Given the description of an element on the screen output the (x, y) to click on. 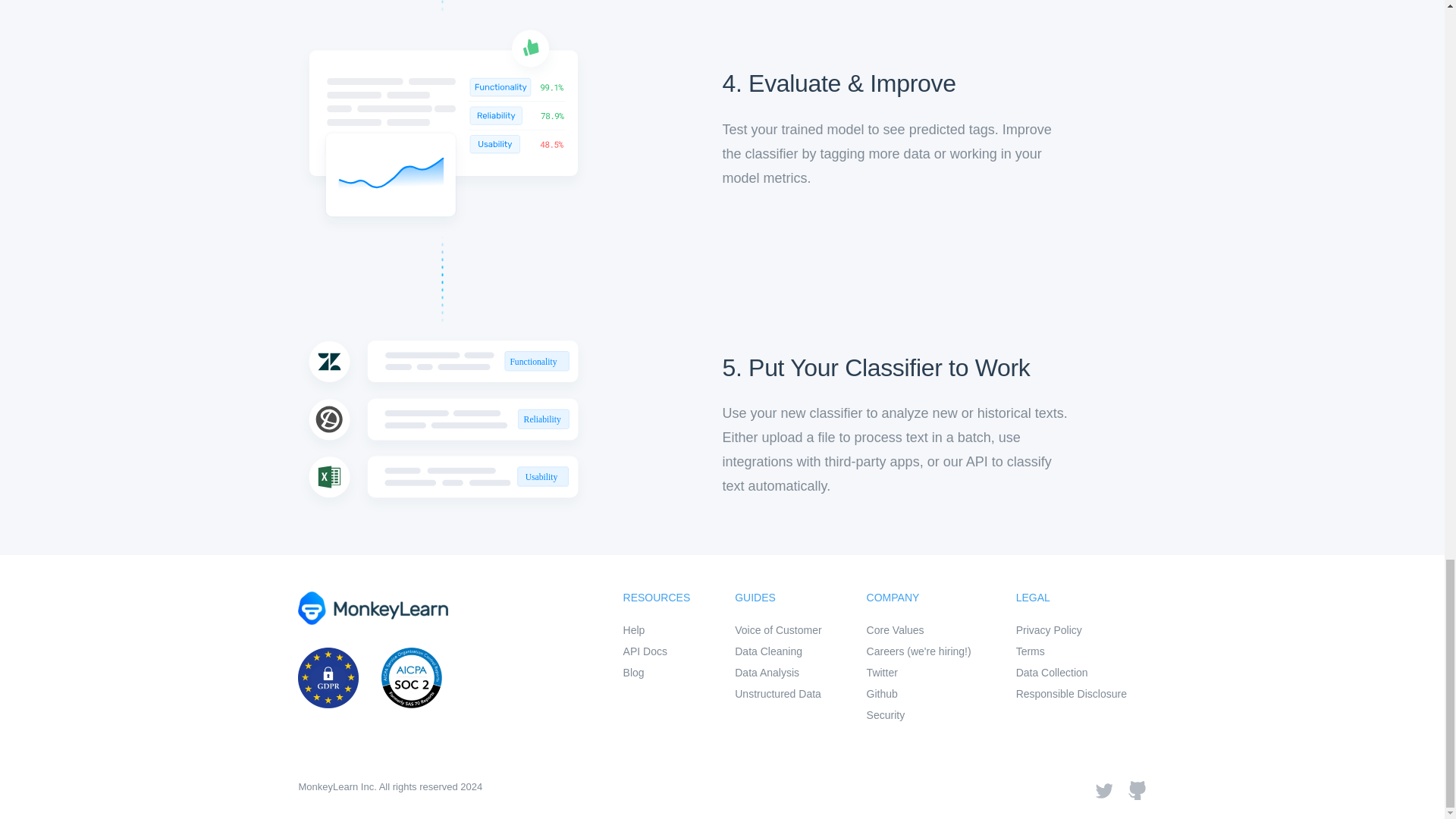
Help (656, 629)
API Docs (656, 650)
Core Values (918, 629)
Security (918, 714)
Unstructured Data (778, 693)
Github (918, 693)
Data Cleaning (778, 650)
Data Analysis (778, 672)
Terms (1071, 650)
Blog (656, 672)
Twitter (918, 672)
Voice of Customer (778, 629)
Privacy Policy (1071, 629)
